Given the description of an element on the screen output the (x, y) to click on. 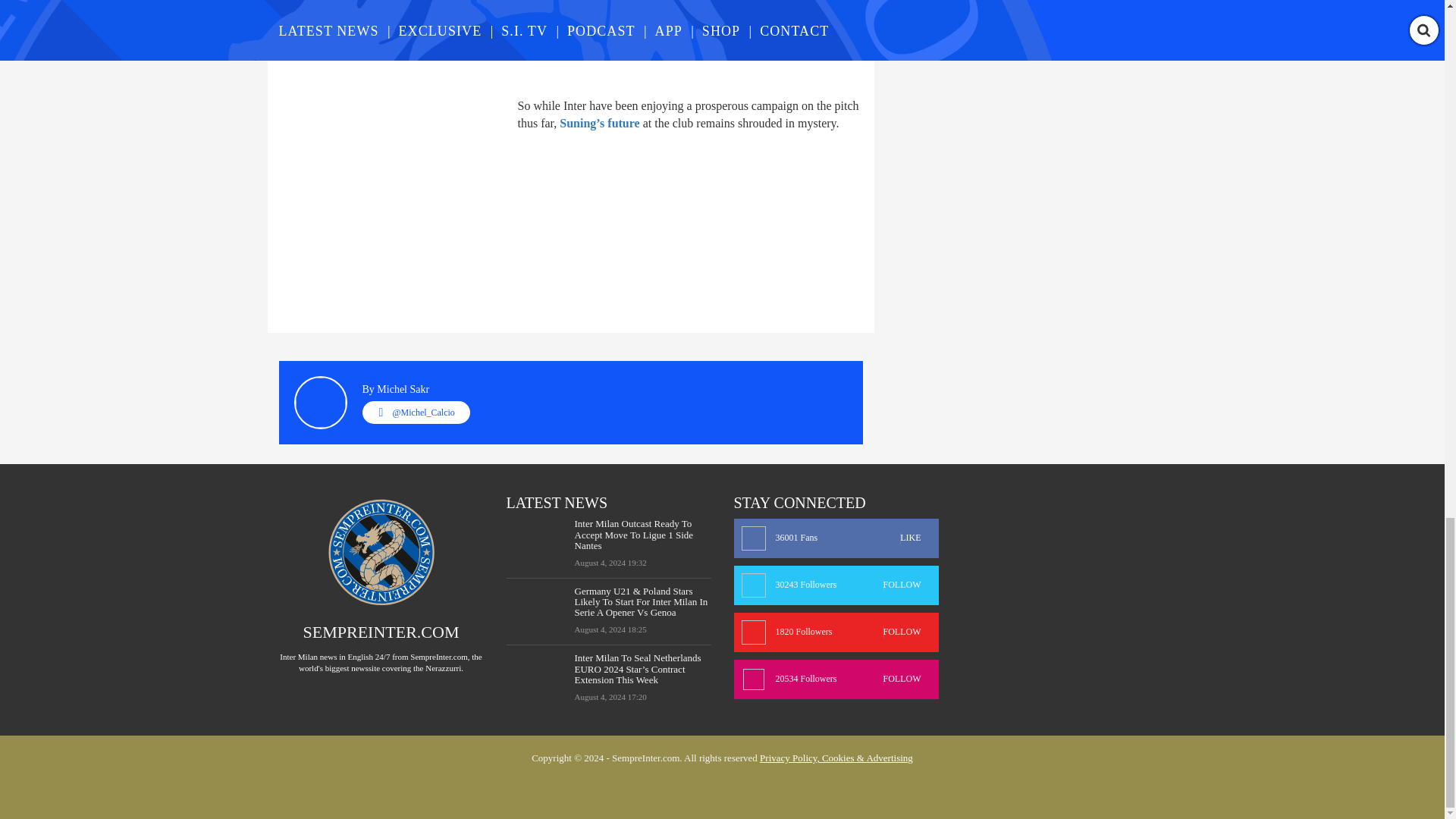
View more articles by Michel Sakr (403, 389)
YouTube video player (491, 40)
SEMPREINTER.COM (381, 631)
Michel Sakr (403, 389)
